Given the description of an element on the screen output the (x, y) to click on. 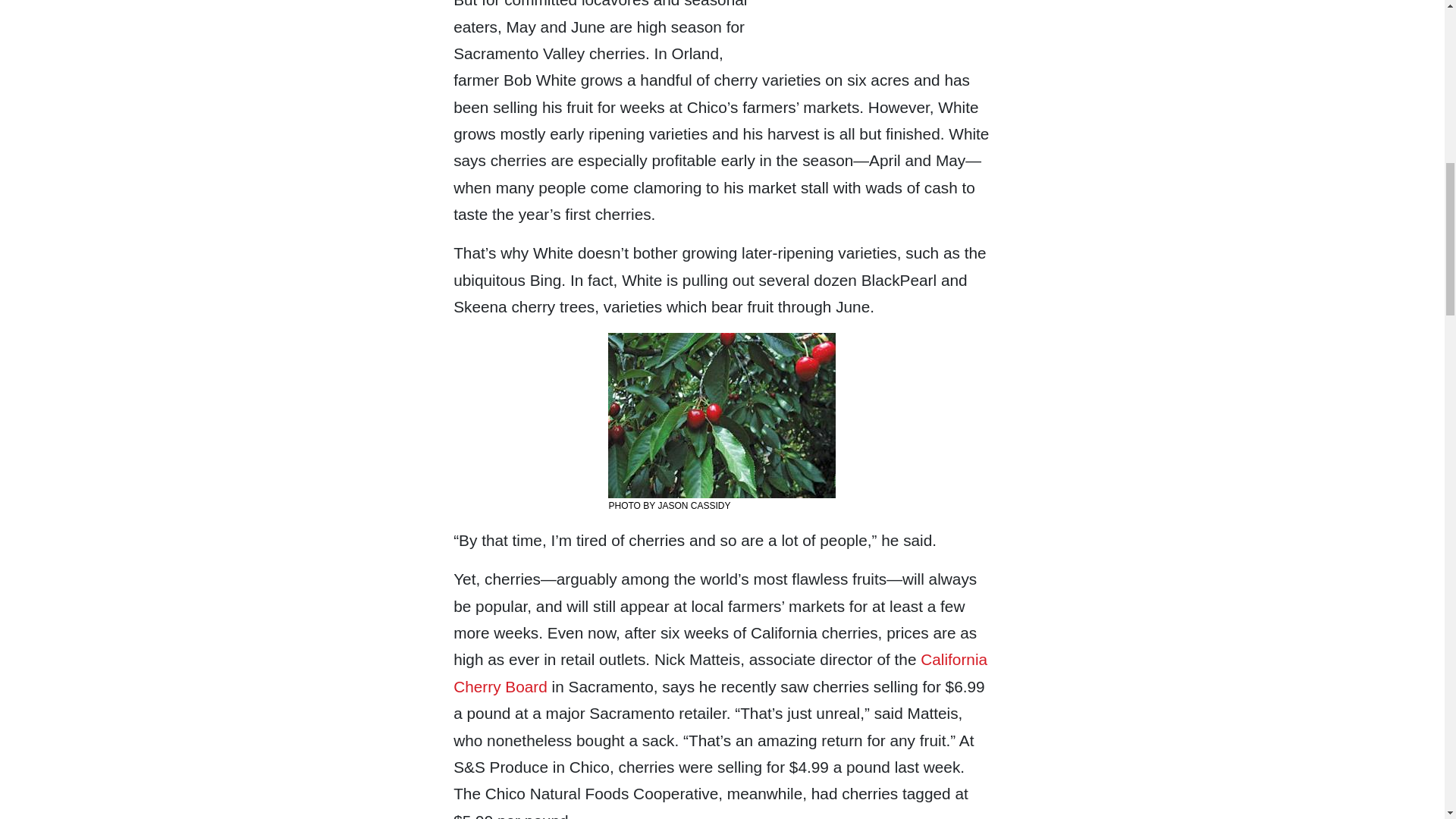
3rd party ad content (876, 6)
